Given the description of an element on the screen output the (x, y) to click on. 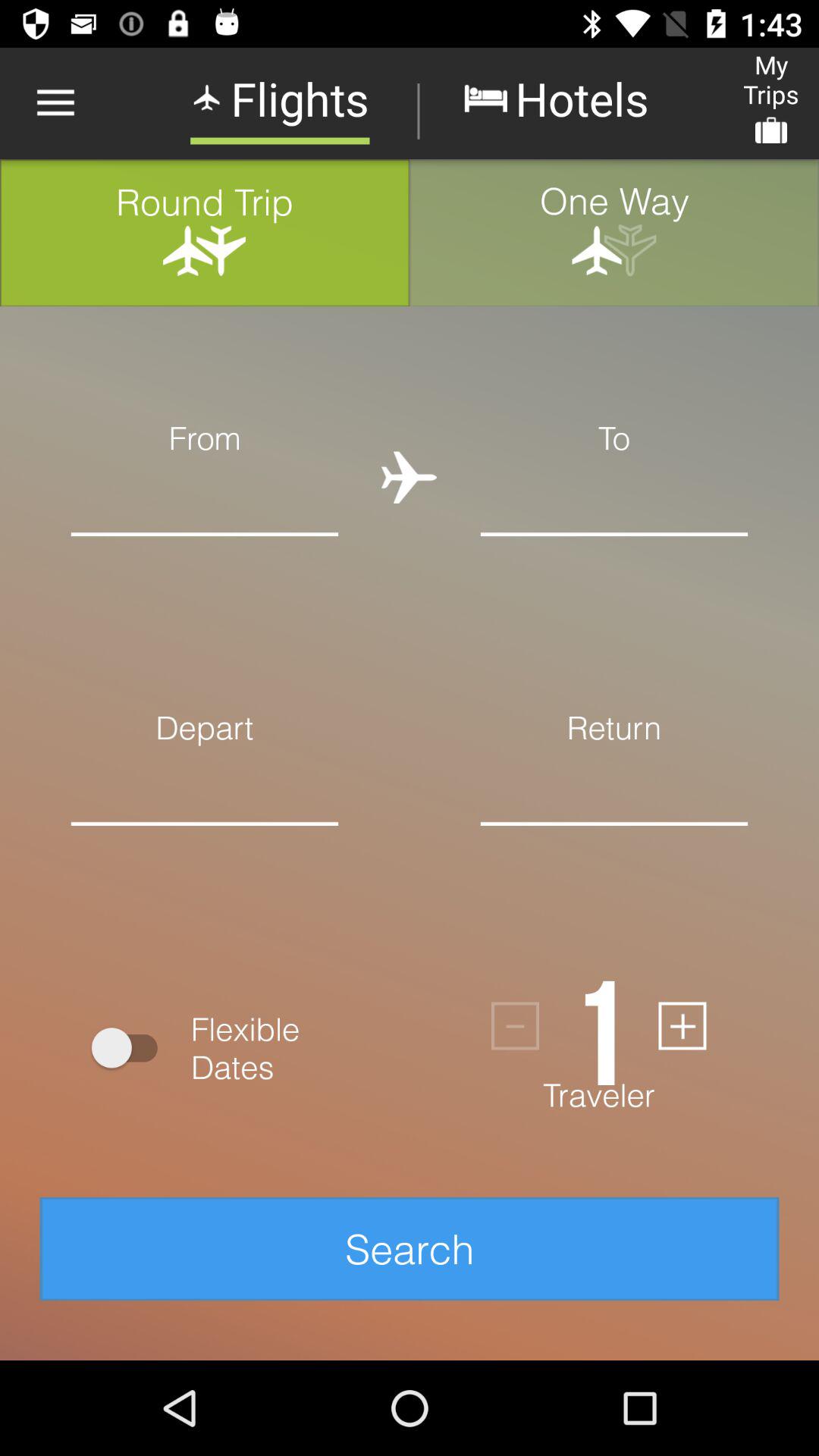
toggle return date (613, 847)
